Given the description of an element on the screen output the (x, y) to click on. 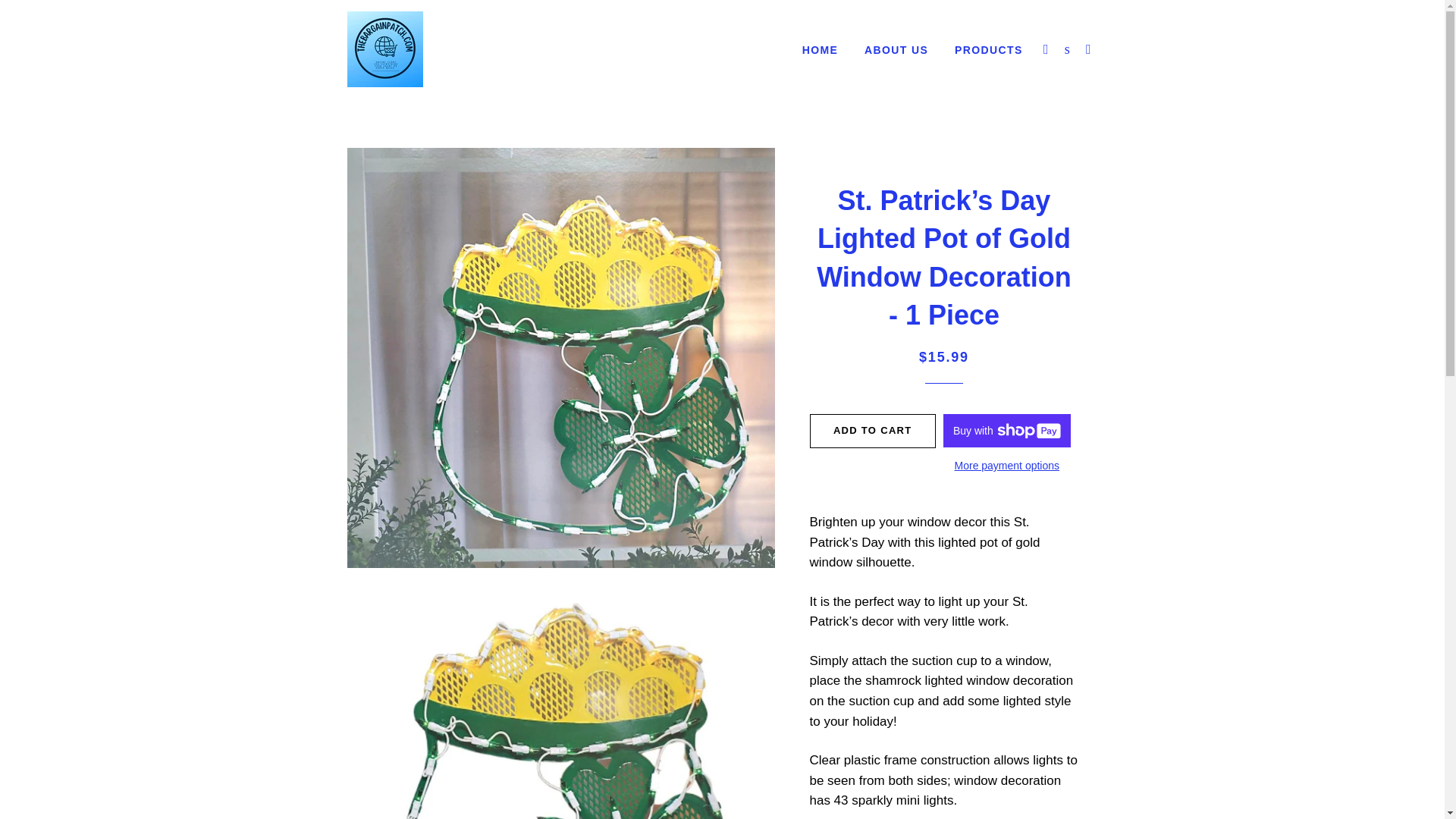
PRODUCTS (988, 50)
More payment options (1007, 466)
HOME (820, 50)
ABOUT US (896, 50)
ADD TO CART (872, 430)
